Given the description of an element on the screen output the (x, y) to click on. 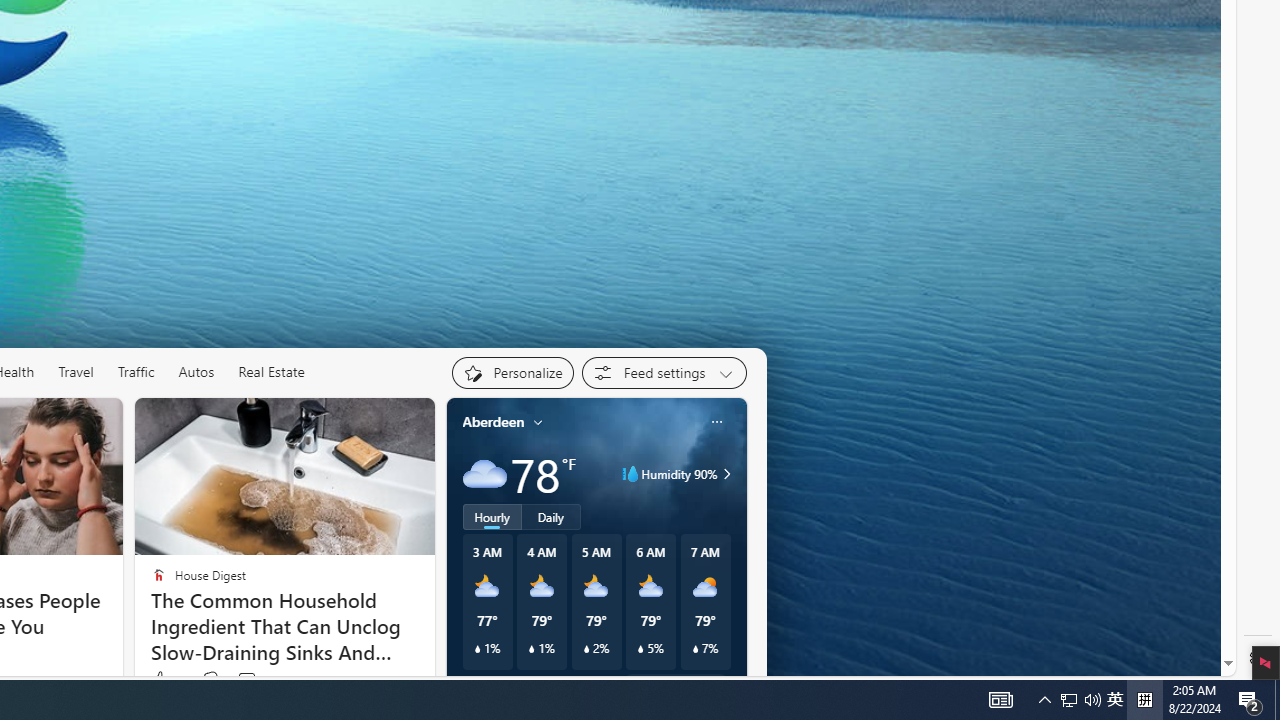
Cloudy (484, 474)
Autos (196, 372)
Class: weather-current-precipitation-glyph (695, 649)
Traffic (135, 372)
Traffic (136, 371)
Aberdeen (493, 422)
Travel (76, 372)
